Given the description of an element on the screen output the (x, y) to click on. 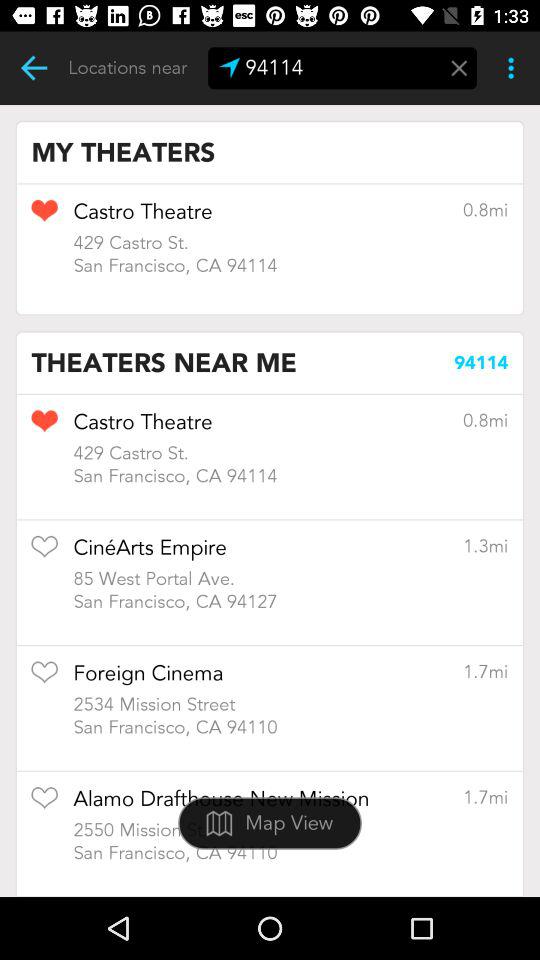
mark as favorite (44, 553)
